Given the description of an element on the screen output the (x, y) to click on. 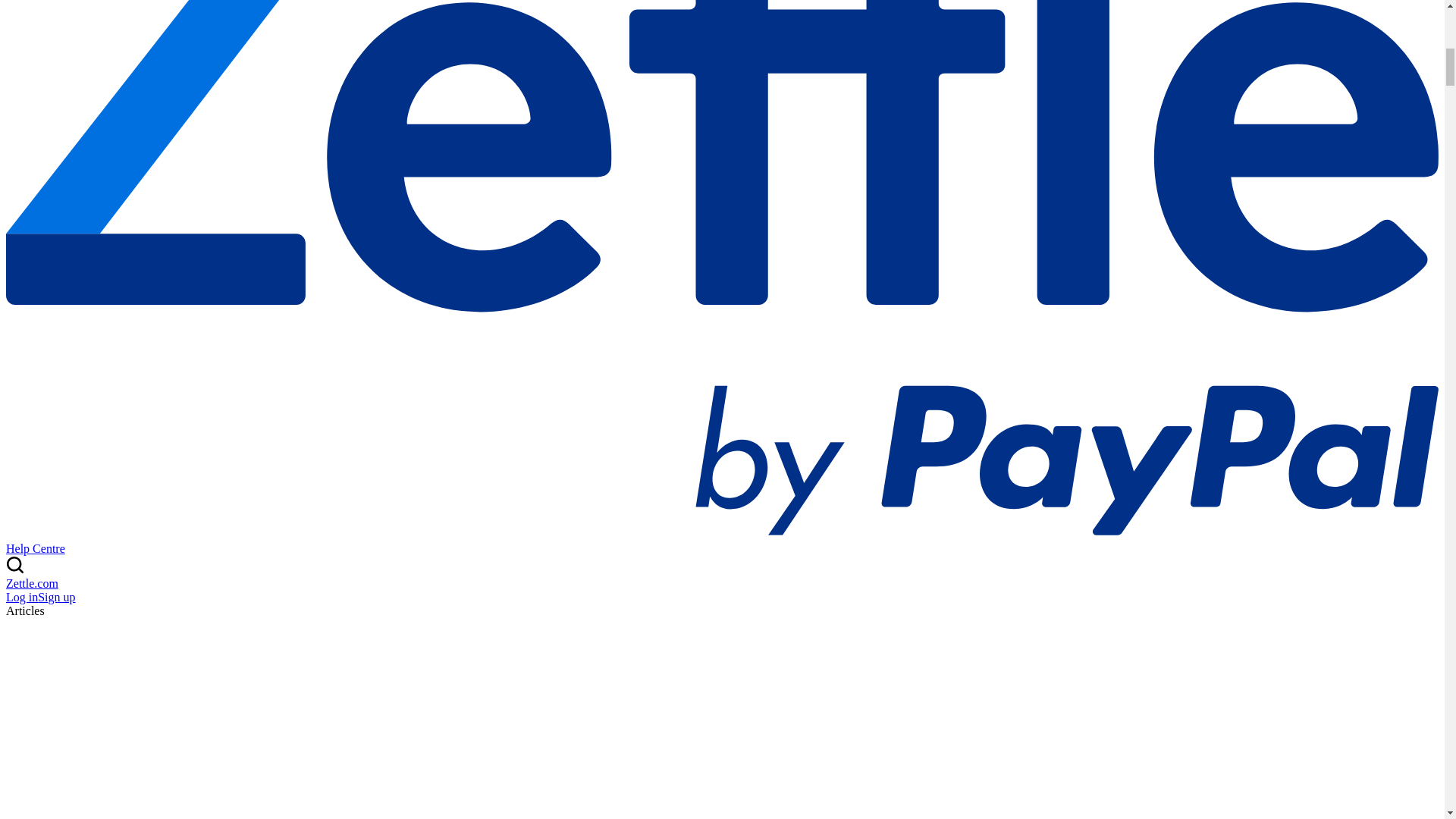
Log in (21, 596)
Sign up (56, 596)
Zettle.com (31, 583)
